Given the description of an element on the screen output the (x, y) to click on. 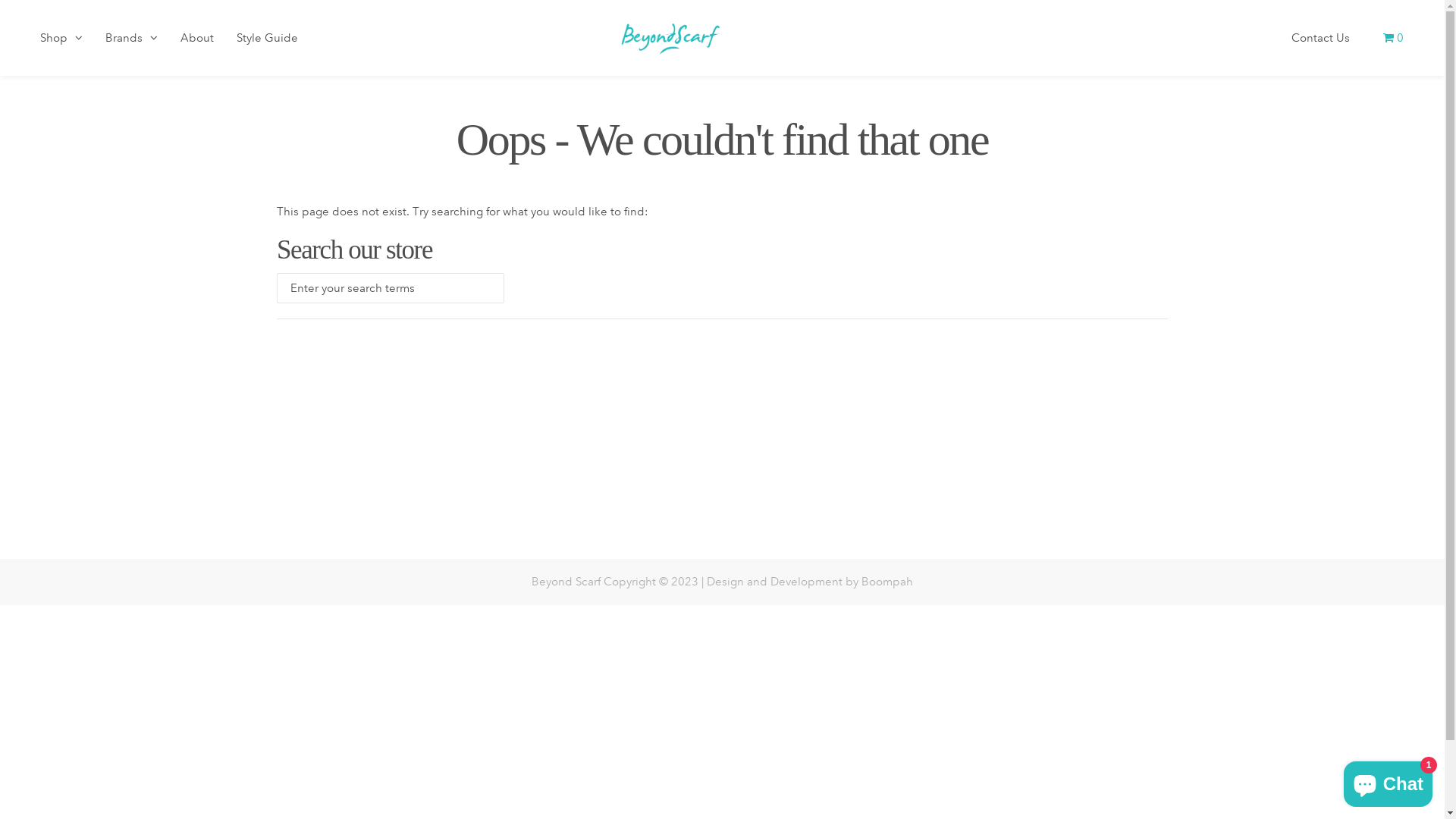
Style Guide Element type: text (267, 43)
About Element type: text (197, 43)
  0 Element type: text (1391, 43)
Shopify online store chat Element type: hover (1388, 780)
Shop Element type: text (61, 43)
Contact Us Element type: text (1320, 43)
Brands Element type: text (131, 43)
Boompah Element type: text (887, 581)
